Given the description of an element on the screen output the (x, y) to click on. 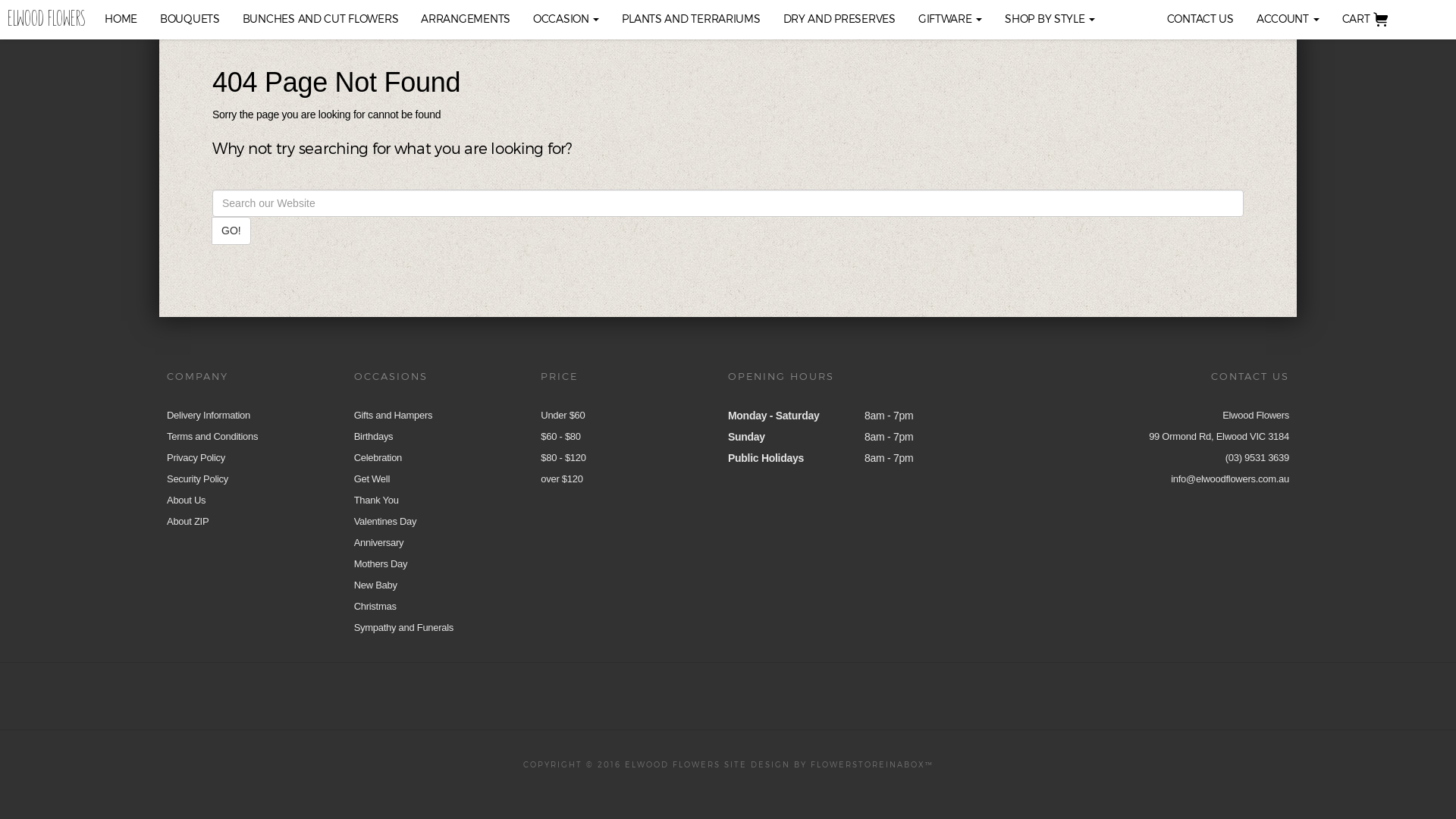
Terms and Conditions Element type: text (211, 436)
SHOP BY STYLE Element type: text (1049, 18)
over $120 Element type: text (561, 478)
About Us Element type: text (185, 499)
Security Policy Element type: text (197, 478)
CART    Element type: text (1369, 19)
Delivery Information Element type: text (208, 414)
Under $60 Element type: text (562, 414)
HOME Element type: text (120, 18)
GIFTWARE Element type: text (949, 18)
ACCOUNT Element type: text (1287, 18)
DRY AND PRESERVES Element type: text (838, 18)
Facebook Element type: hover (658, 692)
Birthdays Element type: text (373, 436)
ARRANGEMENTS Element type: text (465, 18)
Thank You Element type: text (376, 499)
FLOWERSTOREINABOX Element type: text (866, 763)
Instagram Element type: hover (793, 692)
Privacy Policy Element type: text (195, 457)
Mothers Day Element type: text (380, 563)
Anniversary Element type: text (379, 542)
Sympathy and Funerals Element type: text (403, 627)
Valentines Day Element type: text (385, 521)
New Baby Element type: text (375, 584)
CONTACT US Element type: text (1200, 18)
OCCASION Element type: text (565, 18)
PLANTS AND TERRARIUMS Element type: text (690, 18)
Get Well Element type: text (371, 478)
BOUQUETS Element type: text (189, 18)
GO! Element type: text (231, 230)
Gifts and Hampers Element type: text (393, 414)
ELWOOD FLOWERS Element type: text (46, 18)
About ZIP Element type: text (187, 521)
Celebration Element type: text (377, 457)
Christmas Element type: text (375, 605)
$80 - $120 Element type: text (562, 457)
$60 - $80 Element type: text (560, 436)
BUNCHES AND CUT FLOWERS Element type: text (320, 18)
